Given the description of an element on the screen output the (x, y) to click on. 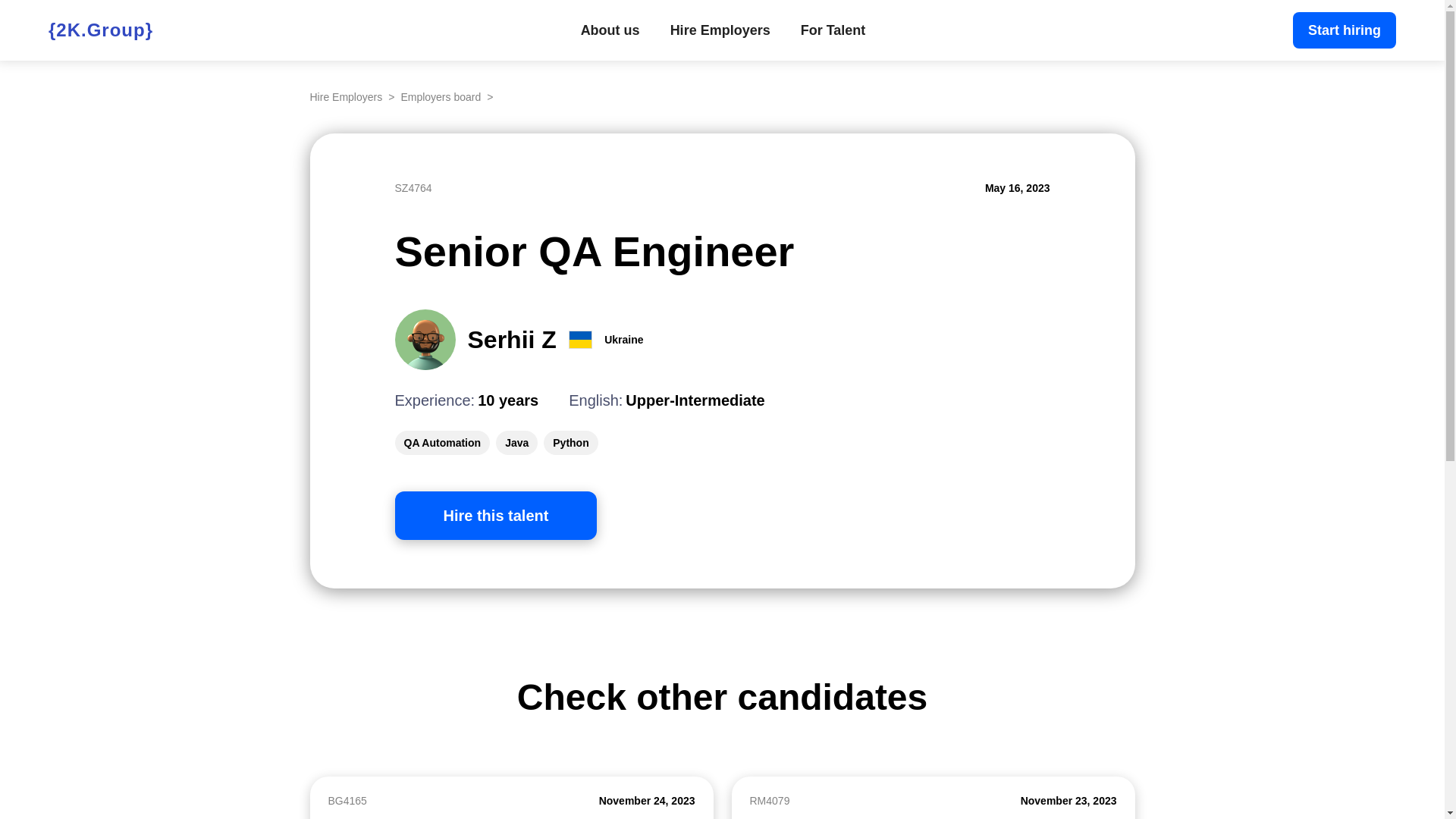
Employers board Element type: text (440, 97)
For Talent Element type: text (833, 30)
Start hiring Element type: text (1344, 30)
Hire Employers Element type: text (720, 30)
About us Element type: text (610, 30)
Hire this talent Element type: text (495, 515)
Hire Employers Element type: text (345, 97)
